Given the description of an element on the screen output the (x, y) to click on. 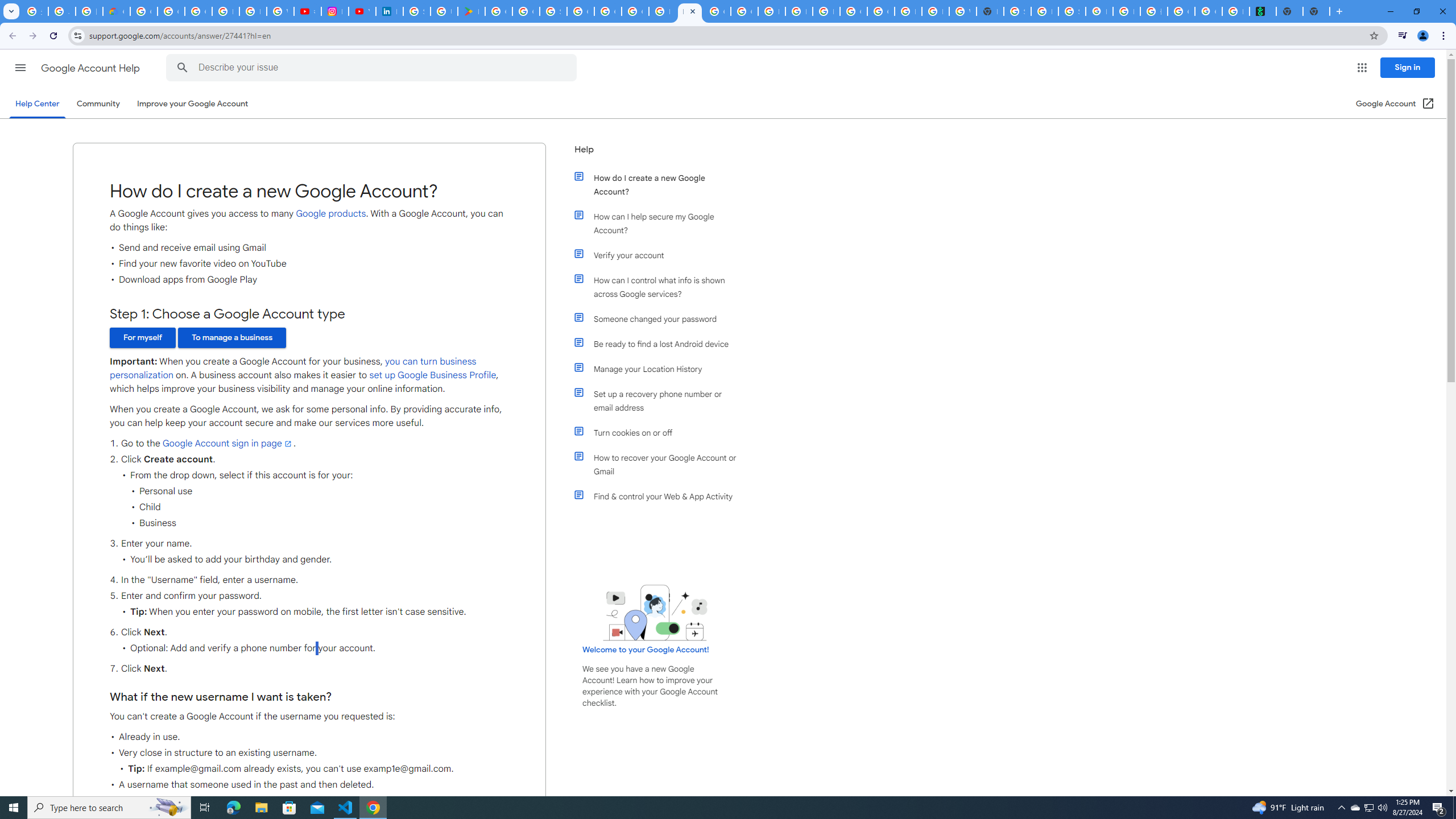
Browse Chrome as a guest - Computer - Google Chrome Help (935, 11)
New Tab (990, 11)
How do I create a new Google Account? - Google Account Help (662, 11)
you can turn business personalization (292, 368)
Set up a recovery phone number or email address (661, 400)
Control your music, videos, and more (1402, 35)
New Tab (1316, 11)
